Given the description of an element on the screen output the (x, y) to click on. 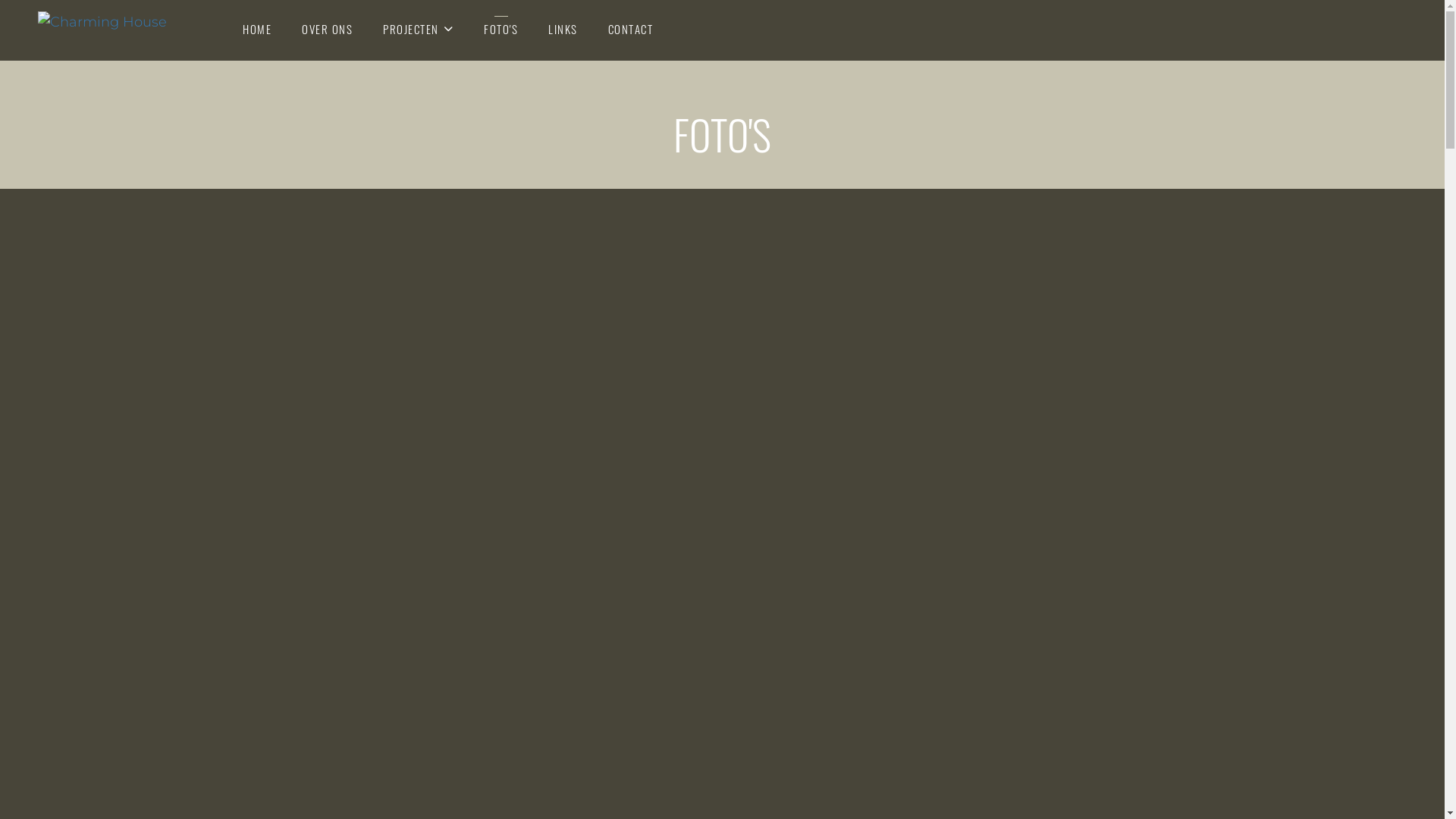
LINKS Element type: text (562, 28)
OVER ONS Element type: text (326, 28)
HOME Element type: text (256, 28)
PROJECTEN Element type: text (417, 28)
Charming House Element type: hover (113, 32)
FOTO'S Element type: text (500, 28)
CONTACT Element type: text (630, 28)
